Given the description of an element on the screen output the (x, y) to click on. 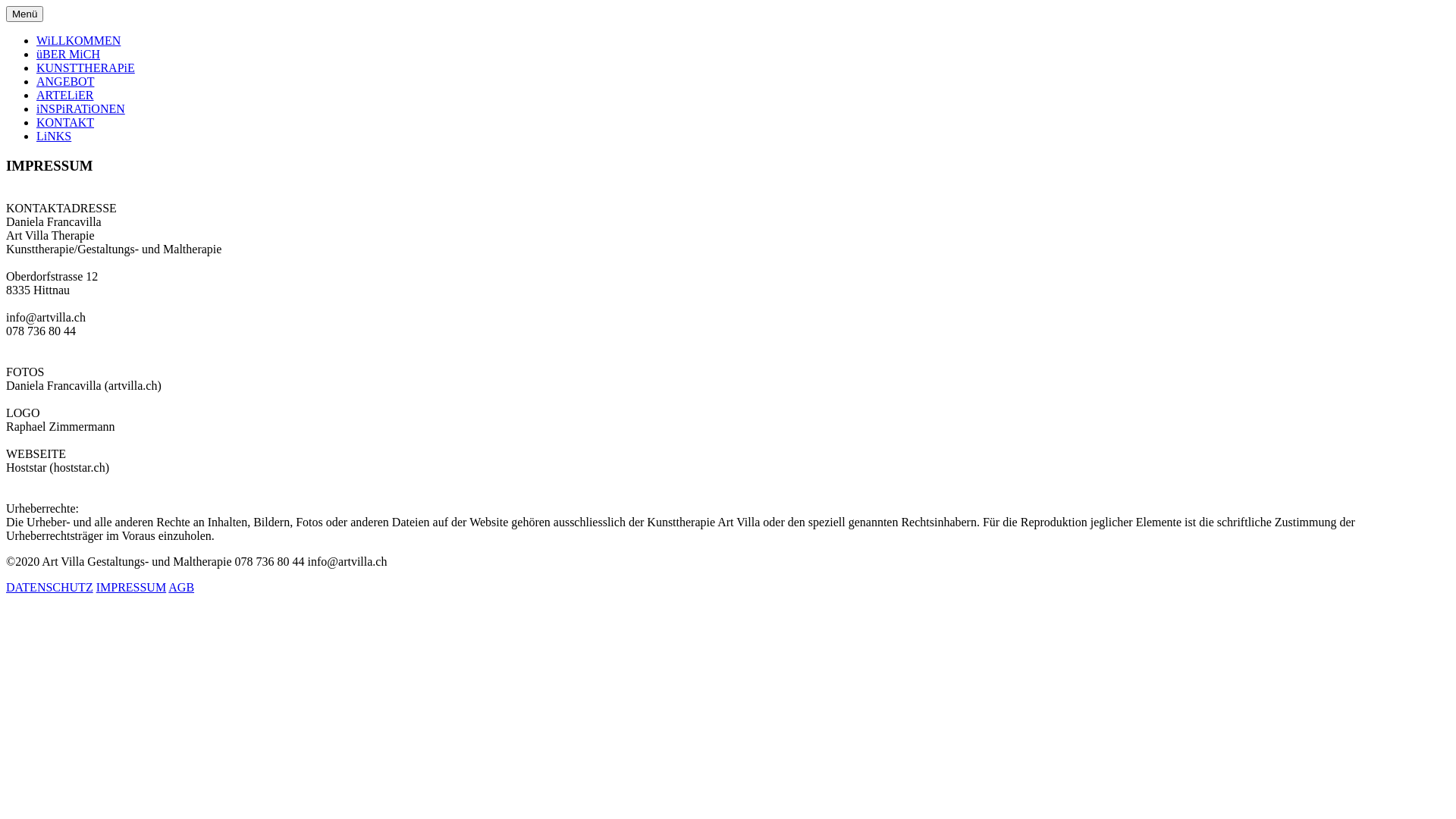
KONTAKT Element type: text (65, 122)
LiNKS Element type: text (53, 135)
WiLLKOMMEN Element type: text (78, 40)
iNSPiRATiONEN Element type: text (80, 108)
KUNSTTHERAPiE Element type: text (85, 67)
ARTELiER Element type: text (64, 94)
AGB Element type: text (181, 586)
DATENSCHUTZ Element type: text (49, 586)
IMPRESSUM Element type: text (131, 586)
ANGEBOT Element type: text (65, 81)
